Given the description of an element on the screen output the (x, y) to click on. 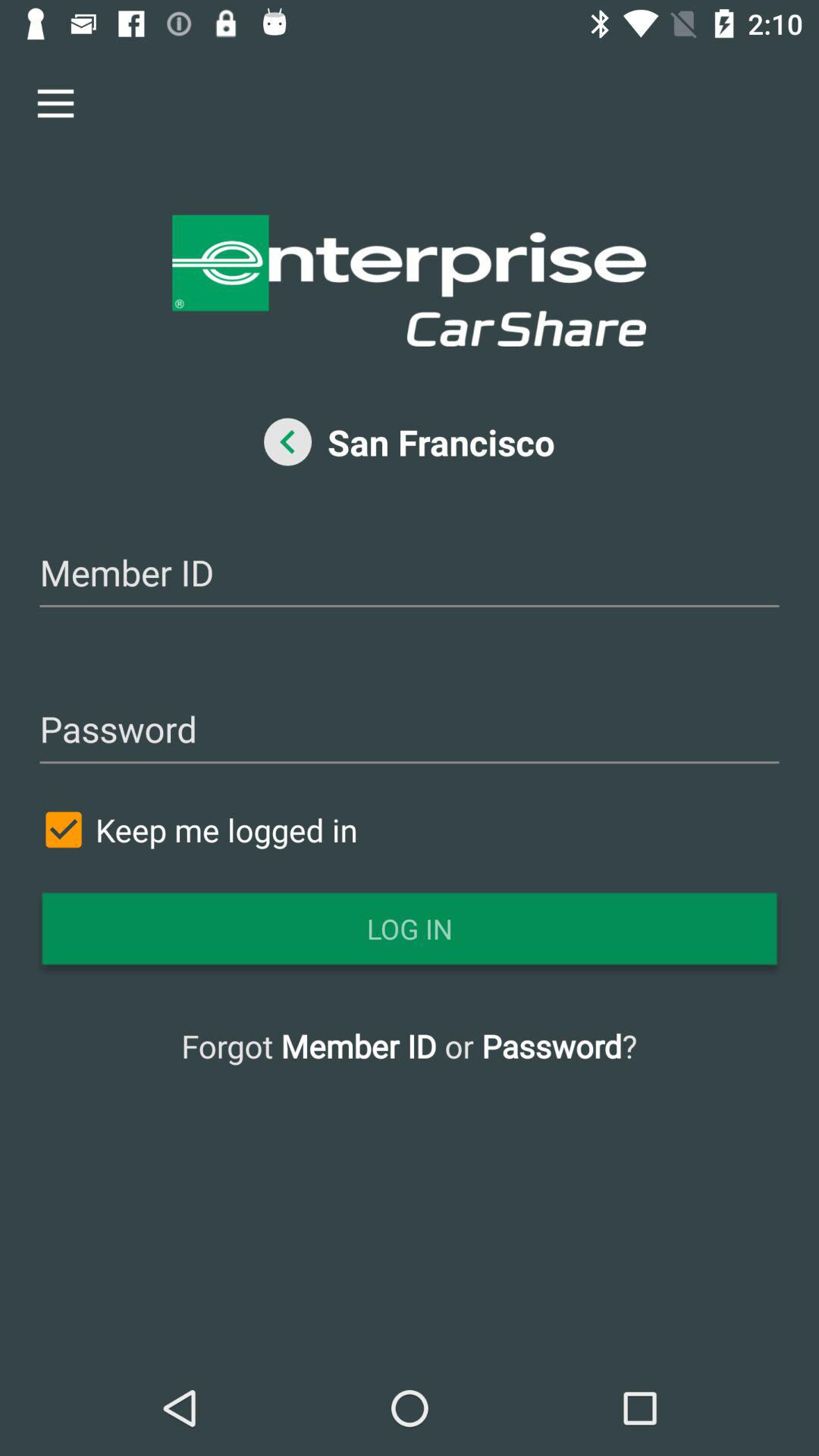
id textbox (409, 574)
